Given the description of an element on the screen output the (x, y) to click on. 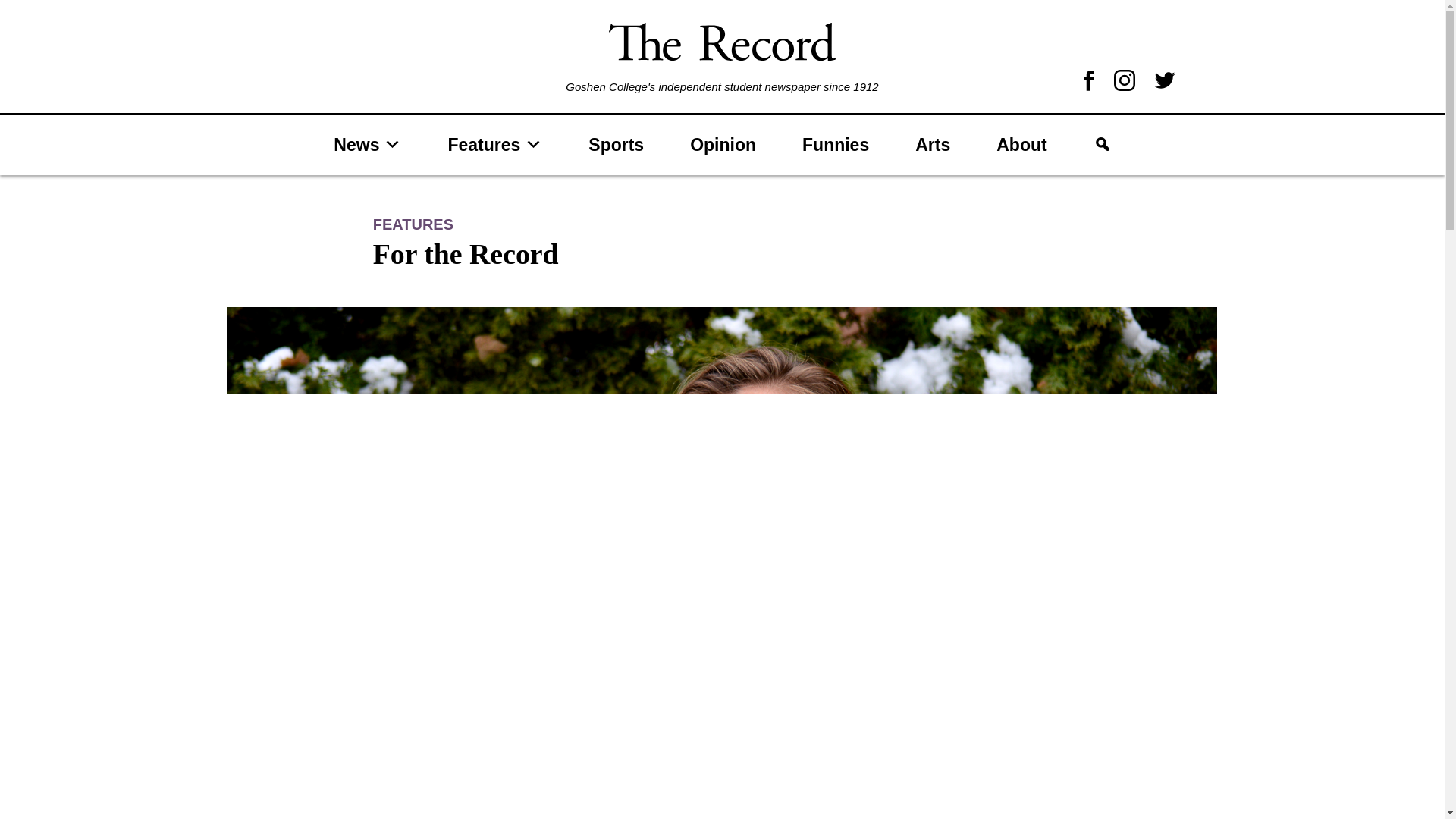
Features (494, 144)
About (1021, 144)
News (367, 144)
Opinion (722, 144)
Sports (616, 144)
Funnies (834, 144)
Arts (932, 144)
